Given the description of an element on the screen output the (x, y) to click on. 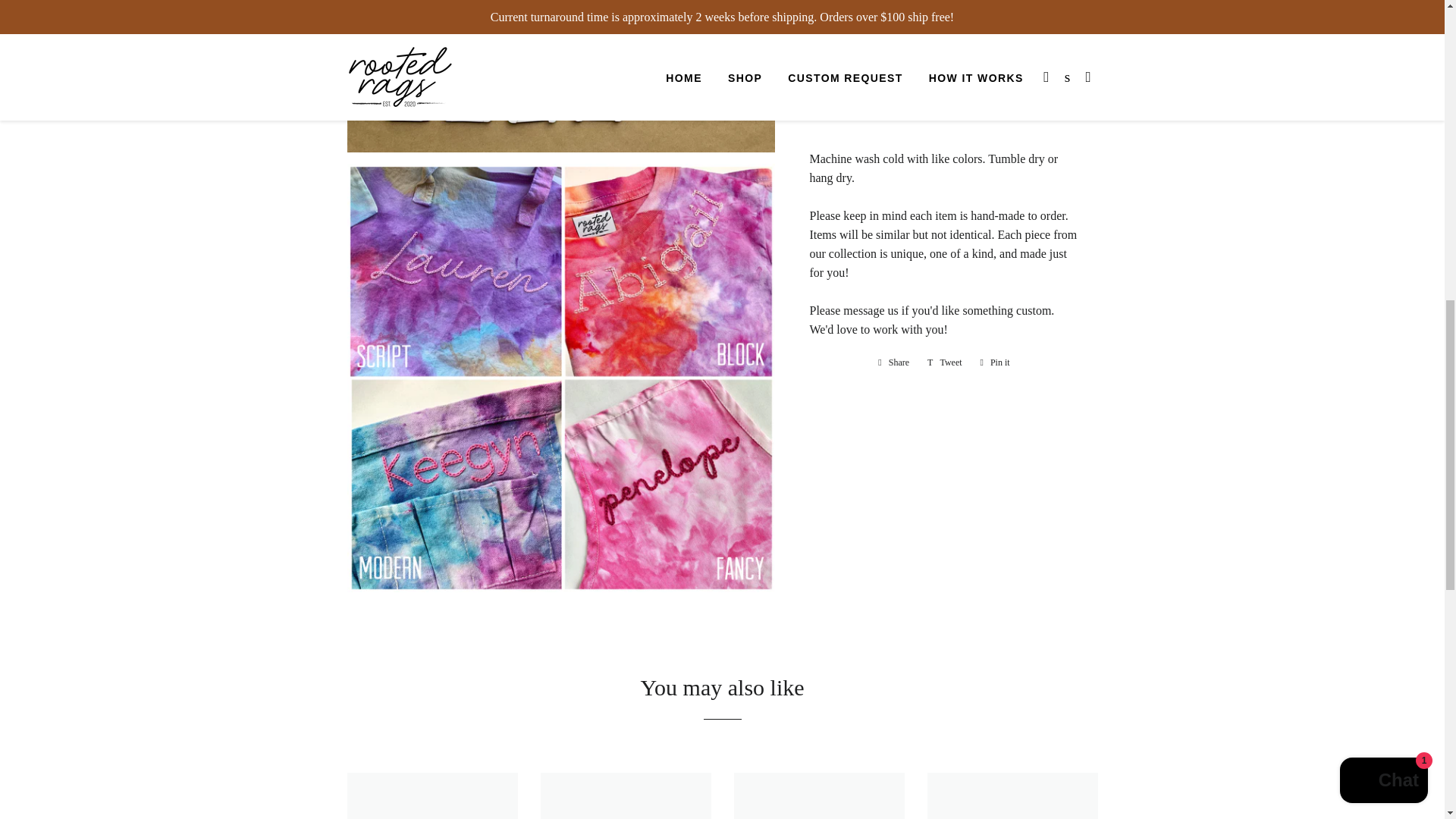
Share on Facebook (893, 362)
Pin on Pinterest (893, 362)
Tweet on Twitter (944, 362)
